Given the description of an element on the screen output the (x, y) to click on. 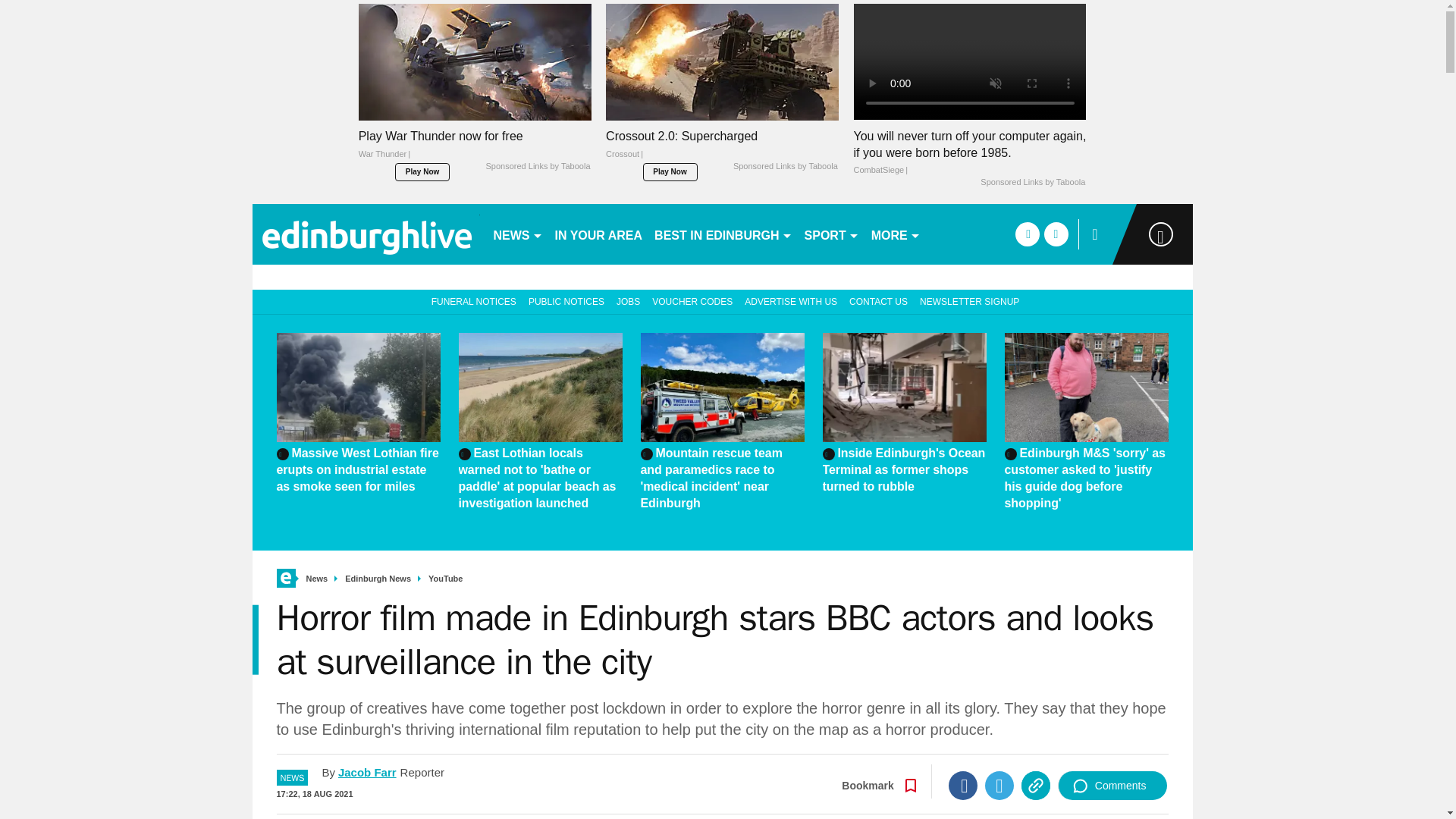
Crossout 2.0: Supercharged (721, 148)
IN YOUR AREA (598, 233)
NEWS (517, 233)
twitter (1055, 233)
Play War Thunder now for free (474, 148)
Sponsored Links by Taboola (1031, 182)
BEST IN EDINBURGH (722, 233)
Comments (1112, 785)
Facebook (962, 785)
Sponsored Links by Taboola (785, 166)
SPORT (830, 233)
Sponsored Links by Taboola (536, 166)
Twitter (999, 785)
Play Now (421, 171)
